Given the description of an element on the screen output the (x, y) to click on. 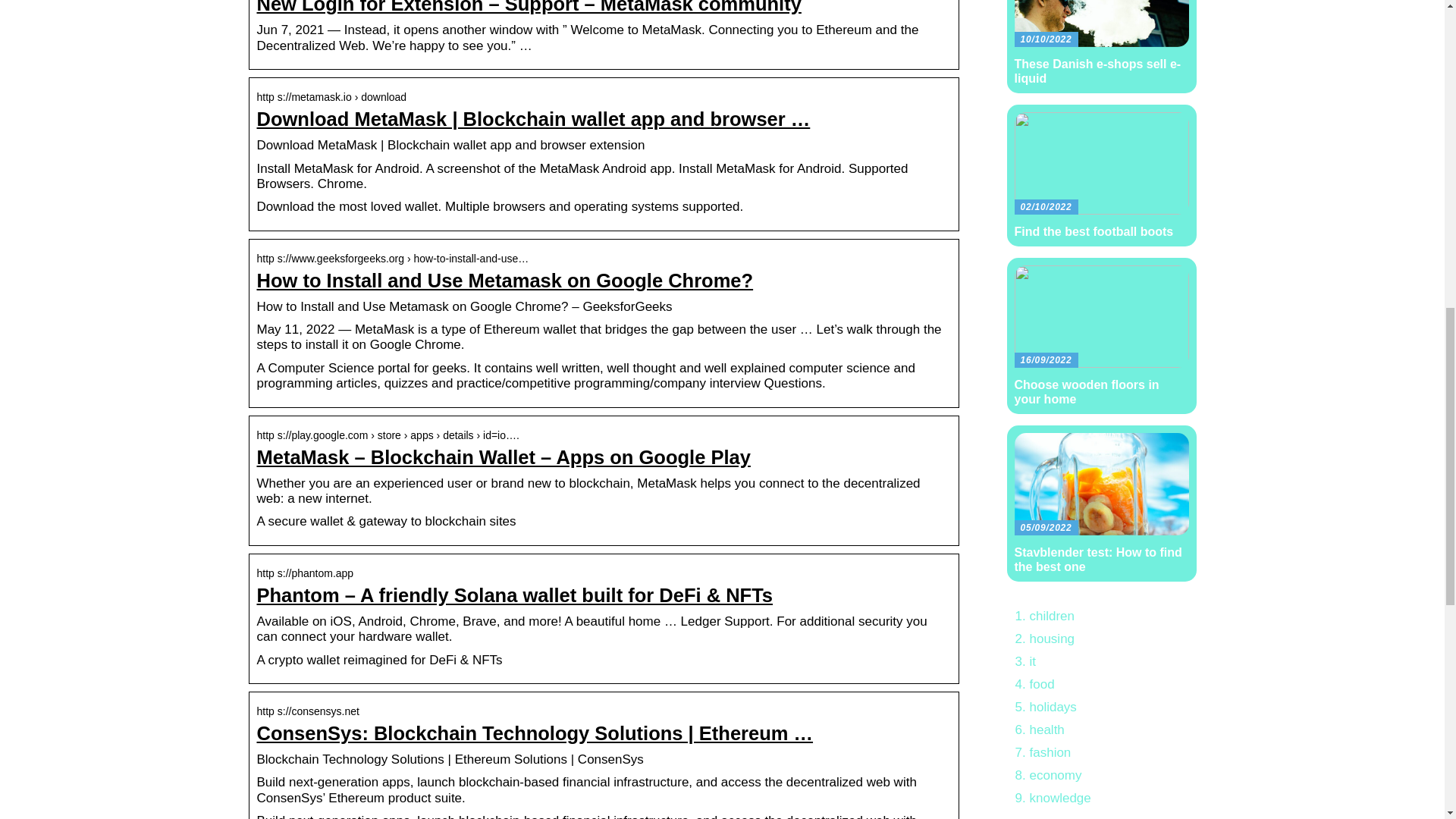
holidays (1053, 707)
housing (1052, 638)
knowledge (1059, 798)
economy (1055, 775)
children (1052, 616)
health (1046, 729)
food (1041, 684)
fashion (1050, 752)
